Given the description of an element on the screen output the (x, y) to click on. 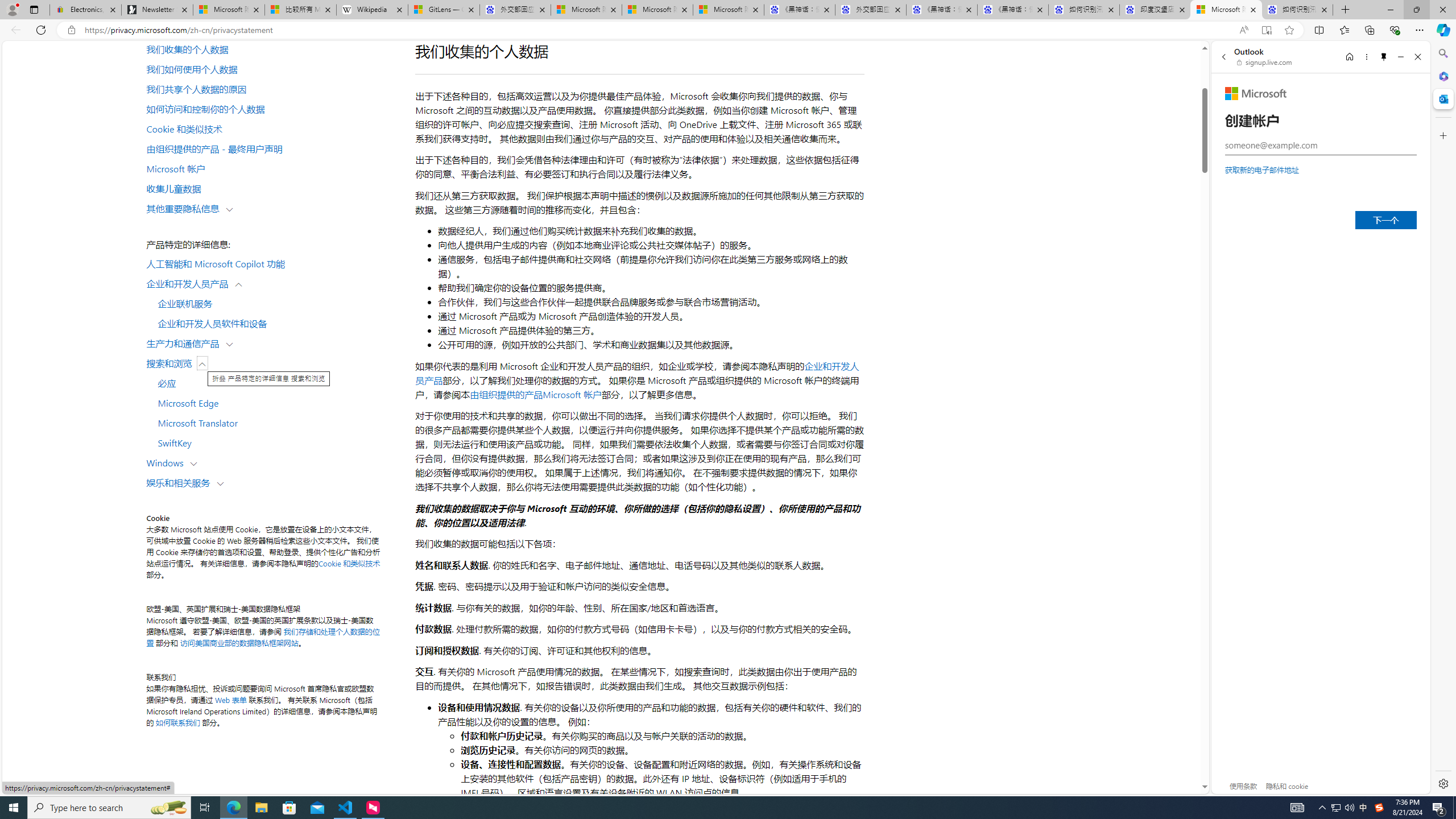
Windows (167, 462)
